Given the description of an element on the screen output the (x, y) to click on. 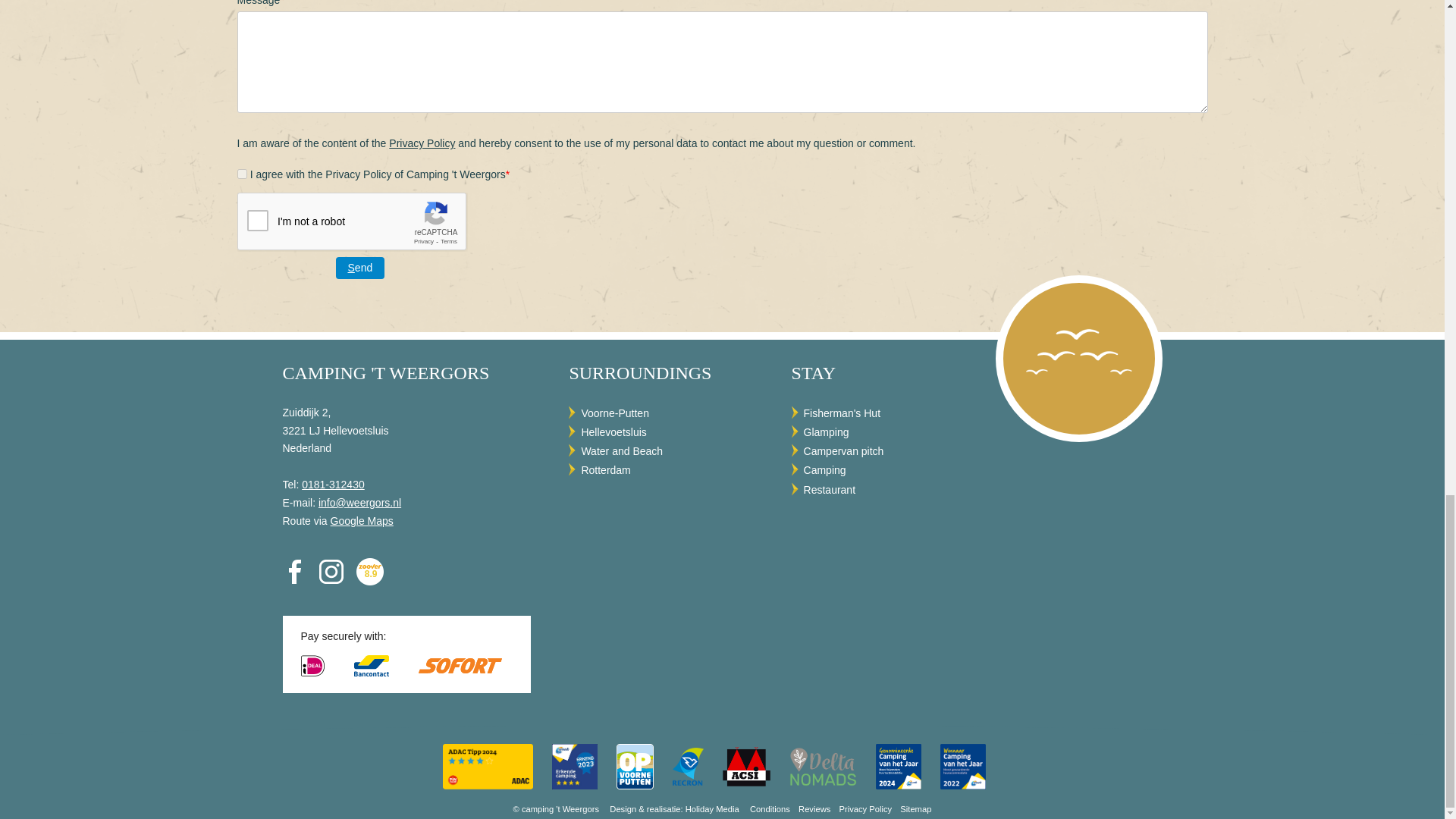
bezoek de website van OP Voorne Putten (635, 766)
Send (359, 268)
bezoek de website van ANWB (575, 766)
Privacy Policy (421, 143)
Genomideerde camping van het jaar 2024 (900, 766)
Delta Nomads (824, 766)
bezoek de website van ACSI (747, 766)
1 (240, 173)
Like Camping 't Weergors op Facebook (293, 571)
Bekijk Camping 't Weergors op Zoover (370, 571)
